Given the description of an element on the screen output the (x, y) to click on. 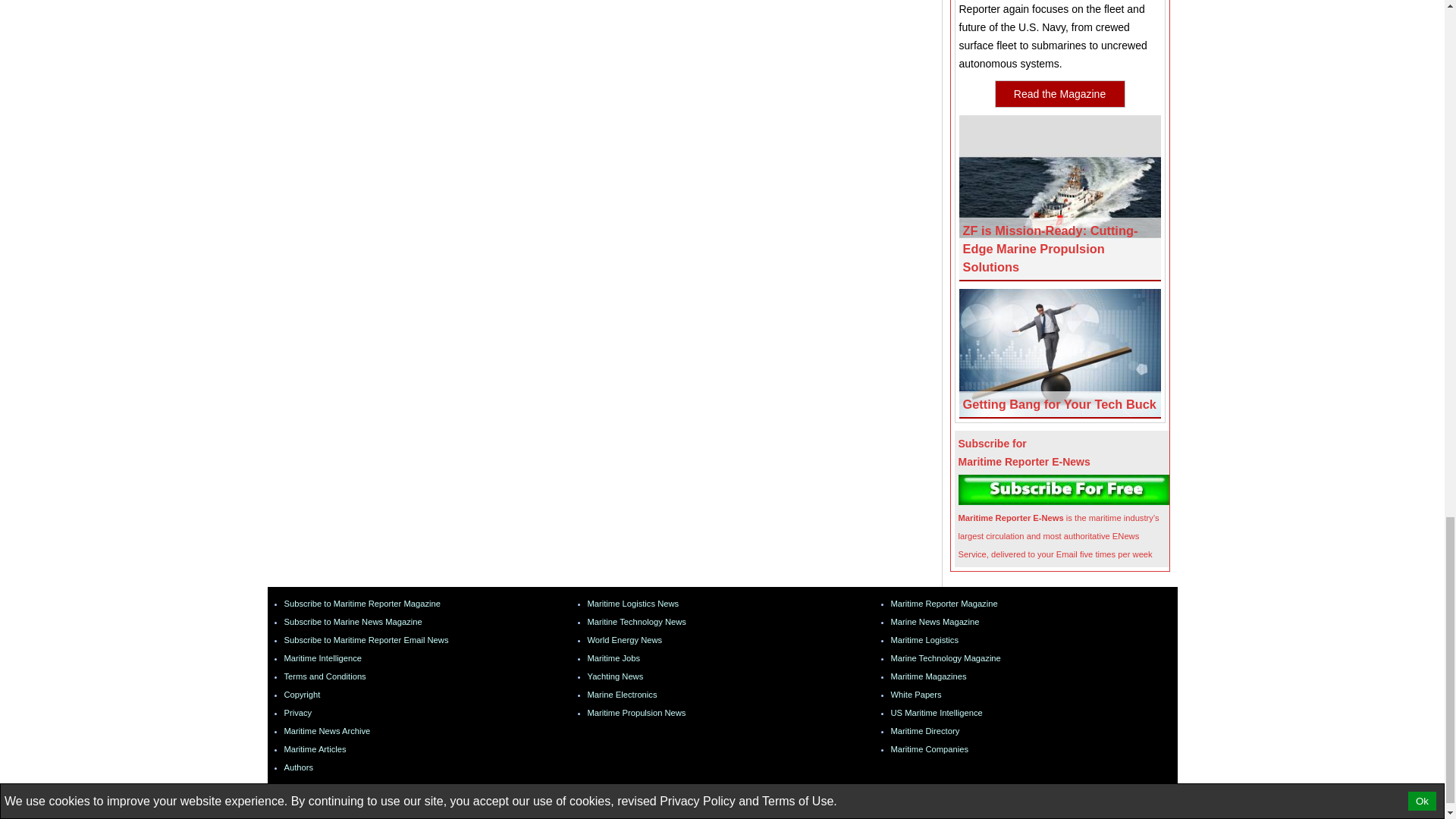
Maritime Jobs (613, 657)
Marine News (933, 621)
Marine Link Authors (298, 767)
Maritime Propulsion (635, 712)
Subscribe (1064, 490)
Maritine Technology News (635, 621)
Marine Electronics (621, 694)
Maritime Ligistics Professional (923, 639)
Maritime Reporter and Engineering News (943, 603)
Yachting Journal (614, 675)
Maritime News Archive (326, 730)
World Energy News (624, 639)
Maritime Logistics (632, 603)
